Given the description of an element on the screen output the (x, y) to click on. 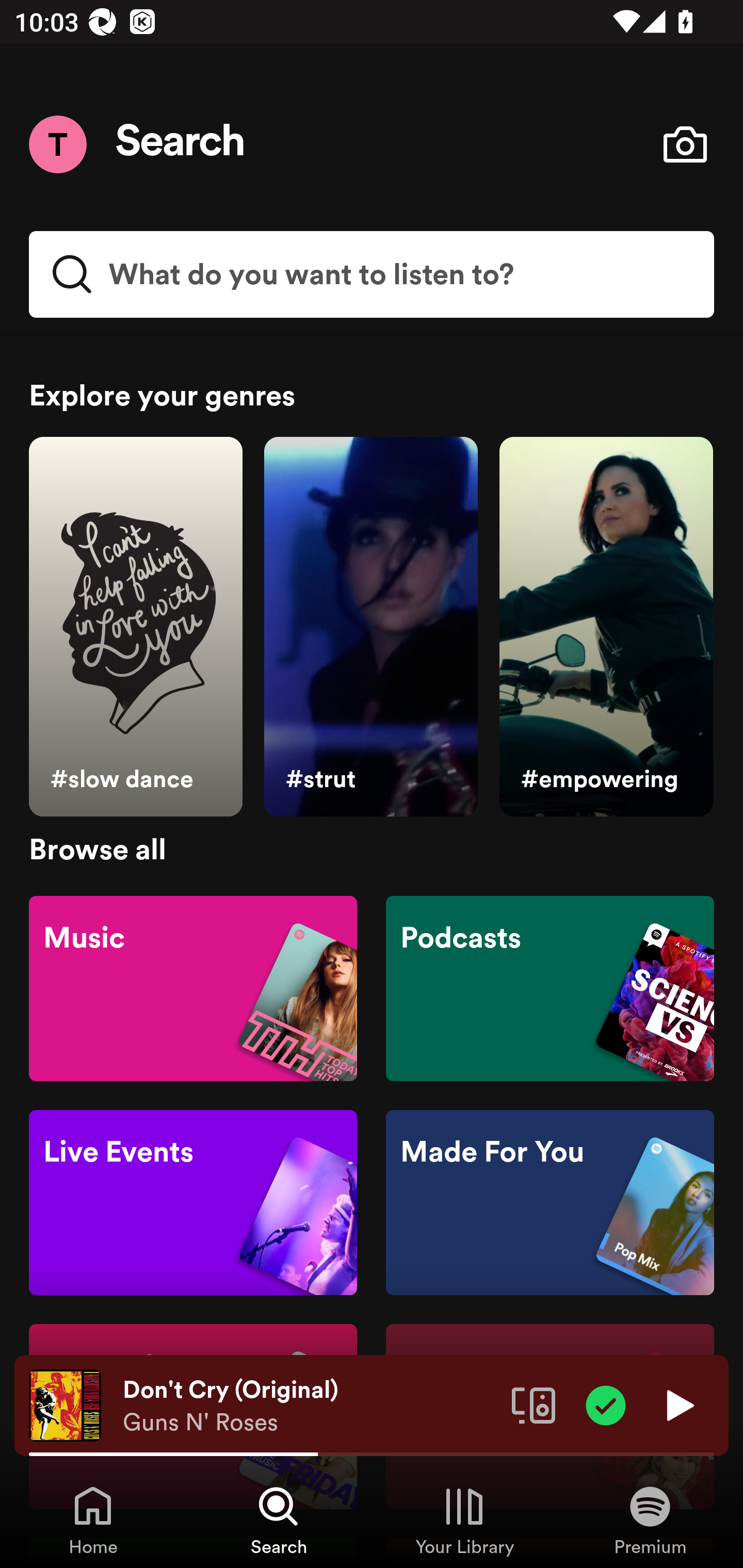
Menu (57, 144)
Open camera (685, 145)
Search (180, 144)
#slow dance (135, 626)
#strut (370, 626)
#empowering (606, 626)
Music (192, 987)
Podcasts (549, 987)
Live Events (192, 1202)
Made For You (549, 1202)
Don't Cry (Original) Guns N' Roses (309, 1405)
The cover art of the currently playing track (64, 1404)
Connect to a device. Opens the devices menu (533, 1404)
Item added (605, 1404)
Play (677, 1404)
Home, Tab 1 of 4 Home Home (92, 1519)
Search, Tab 2 of 4 Search Search (278, 1519)
Your Library, Tab 3 of 4 Your Library Your Library (464, 1519)
Premium, Tab 4 of 4 Premium Premium (650, 1519)
